Given the description of an element on the screen output the (x, y) to click on. 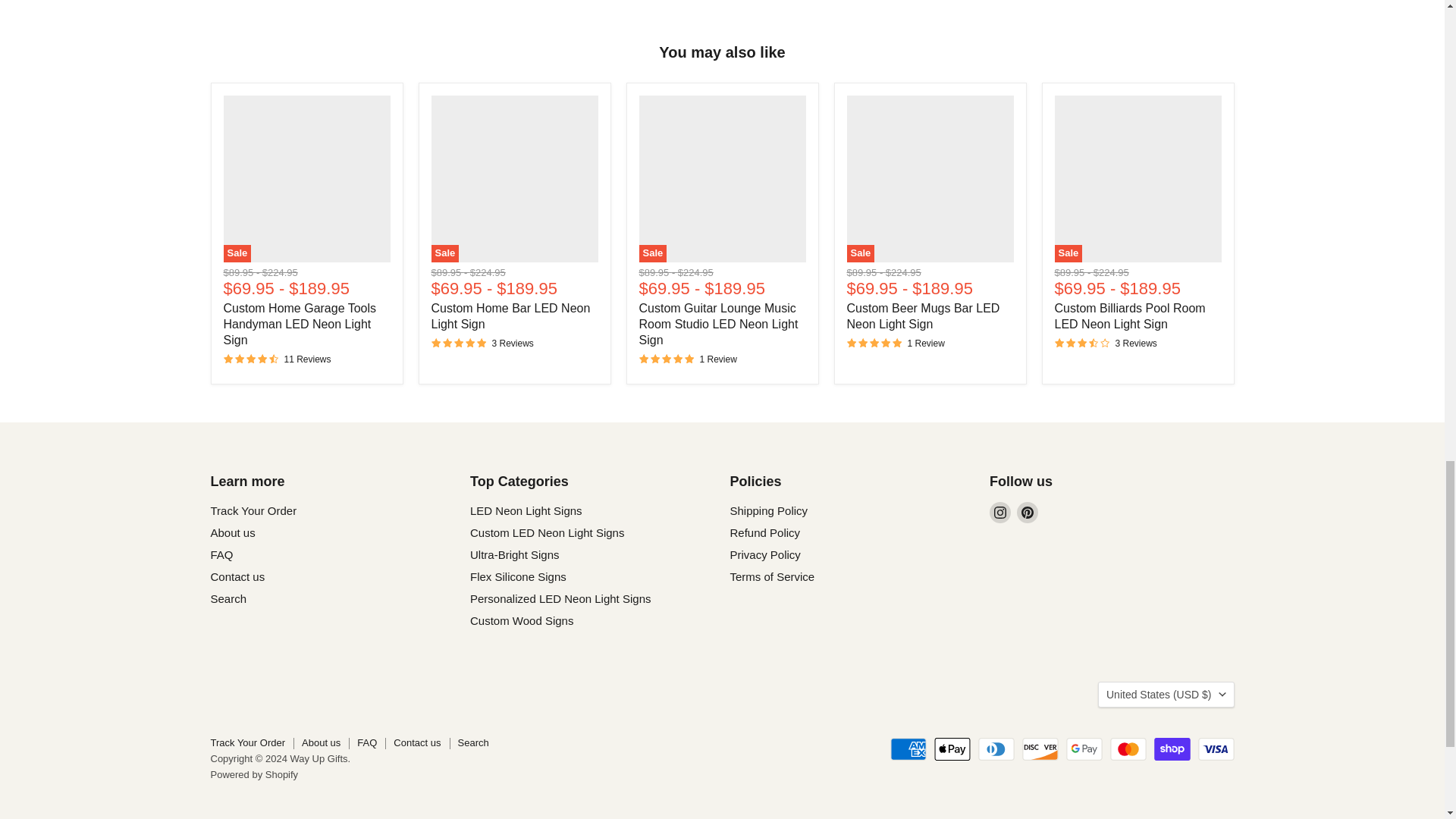
Pinterest (1027, 512)
Instagram (1000, 512)
